Given the description of an element on the screen output the (x, y) to click on. 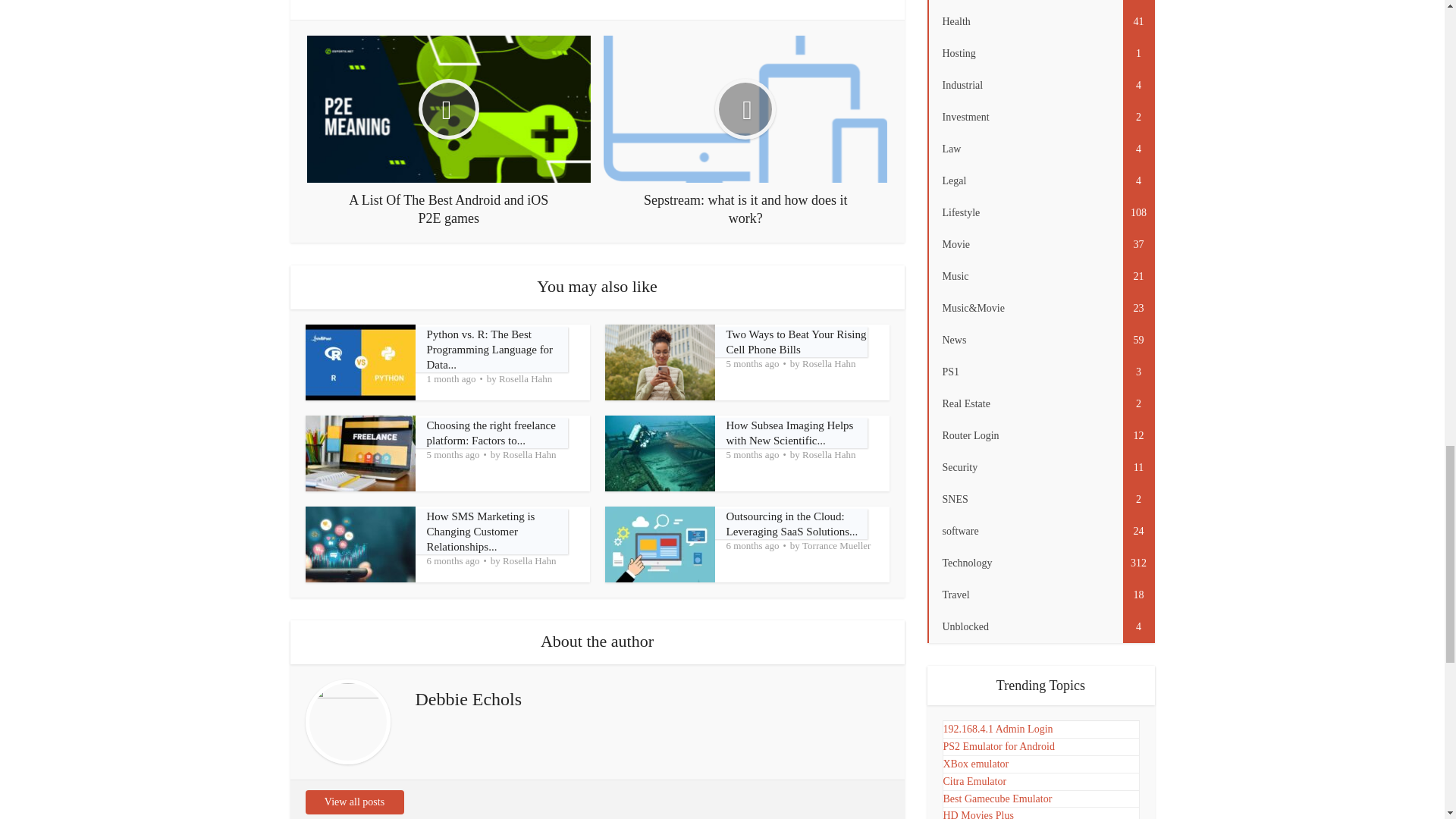
Two Ways to Beat Your Rising Cell Phone Bills (796, 341)
Rosella Hahn (529, 454)
Choosing the right freelance platform: Factors to... (490, 432)
Rosella Hahn (525, 379)
Sepstream: what is it and how does it work? (745, 131)
Rosella Hahn (829, 364)
A List Of The Best Android and iOS P2E games (449, 131)
Python vs. R: The Best Programming Language for Data... (489, 349)
